Given the description of an element on the screen output the (x, y) to click on. 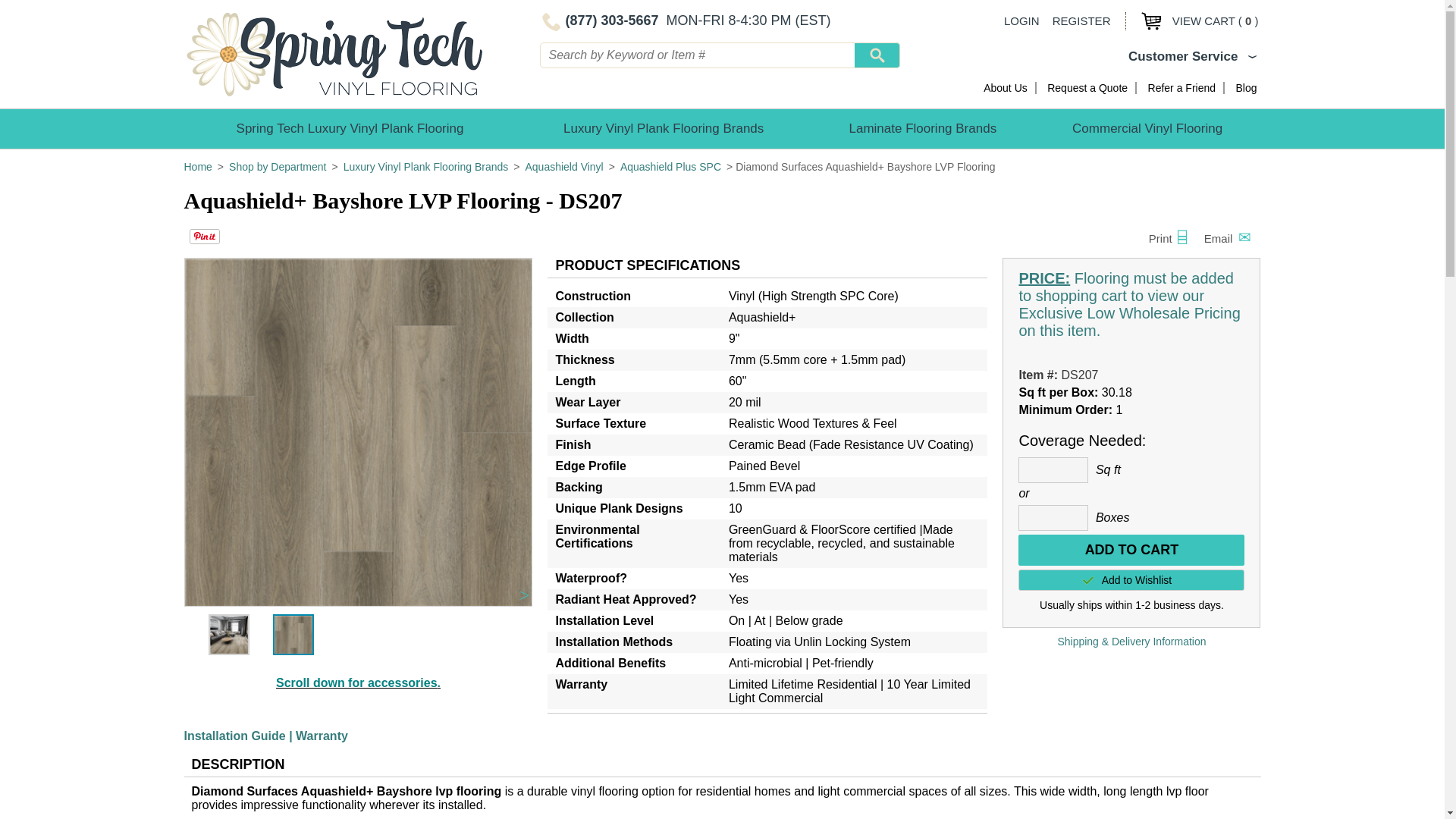
Refer a Friend (1181, 87)
Blog (1245, 87)
Luxury Vinyl Plank Flooring Brands (663, 128)
REGISTER (1081, 20)
Request a Quote (1086, 87)
Add to Cart (1130, 549)
About Us (1005, 87)
Add to Wishlist (1131, 579)
LOGIN (1021, 20)
Call Us! (599, 20)
